Given the description of an element on the screen output the (x, y) to click on. 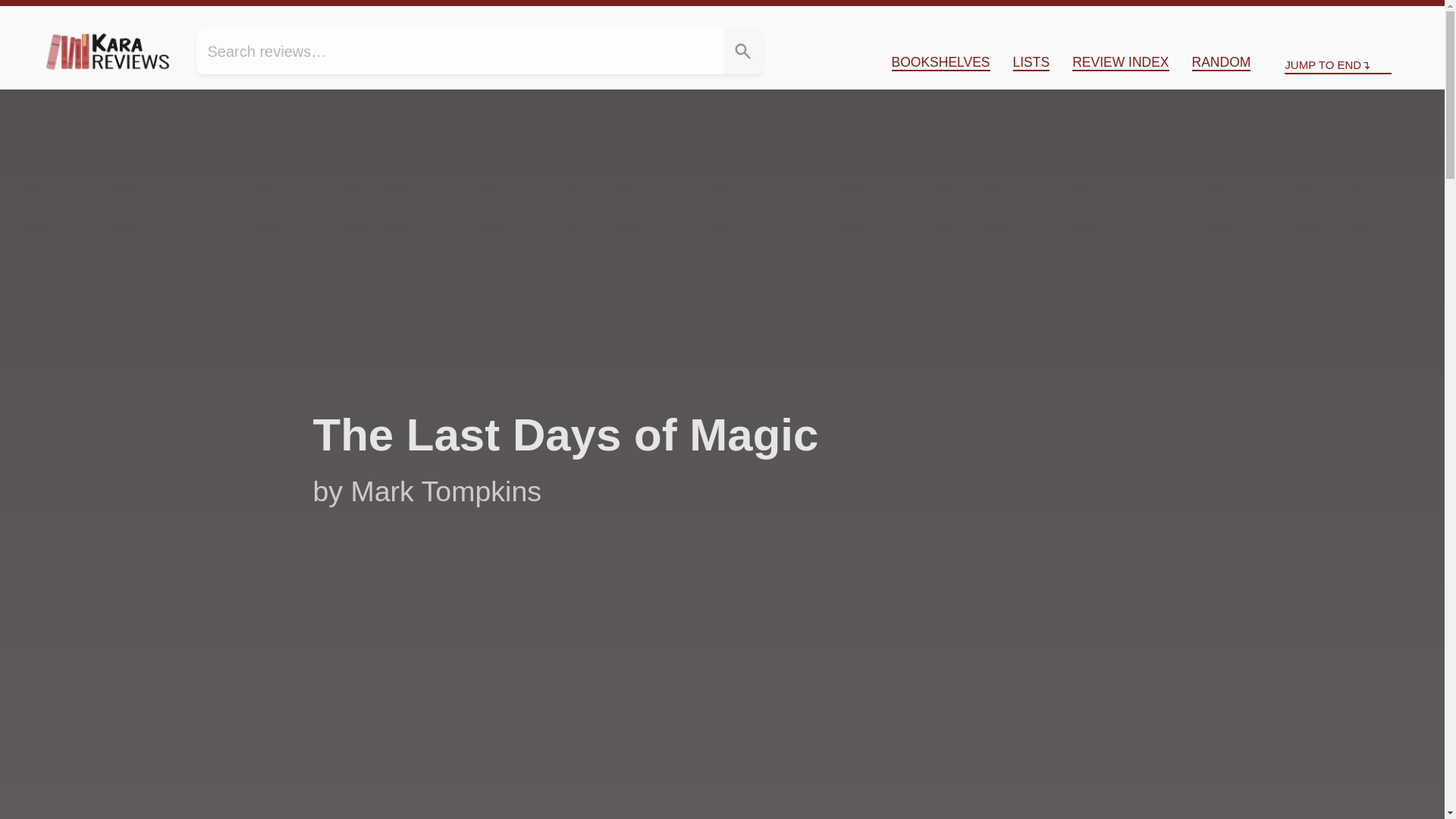
BOOKSHELVES (940, 62)
JUMP TO END (1337, 65)
RANDOM (1221, 62)
Jump to footer (1393, 18)
REVIEW INDEX (1120, 62)
LISTS (1031, 62)
Jump to top of page (1317, 18)
Start (1317, 18)
End (1393, 18)
Series, Top 10 lists, and more! (1031, 62)
Go (742, 51)
Are you feeling lucky? (1221, 62)
Reviews organized by categories (940, 62)
All my reviews, grouped by year and month (1120, 62)
Search (742, 51)
